Given the description of an element on the screen output the (x, y) to click on. 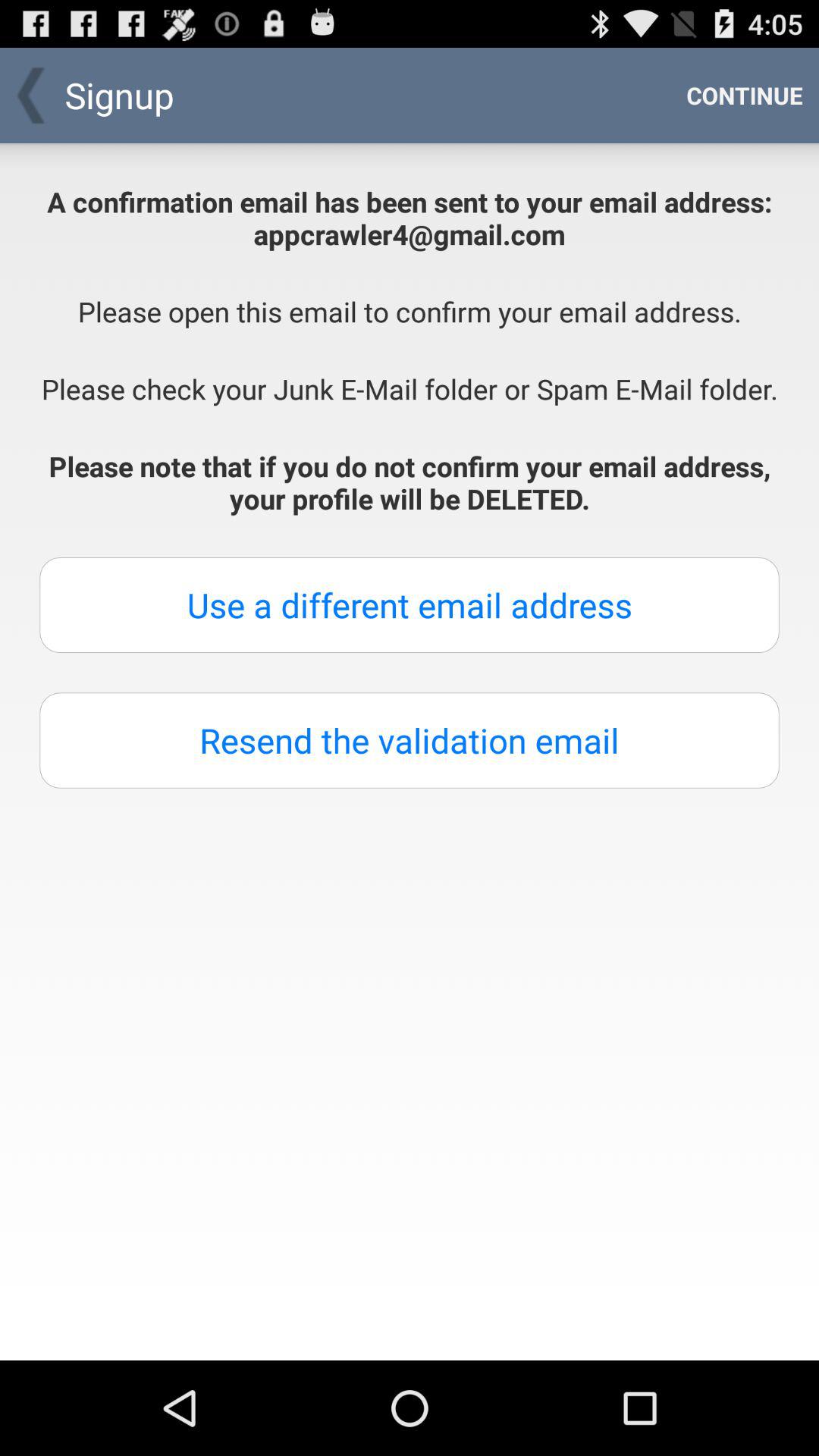
click the continue at the top right corner (744, 95)
